Given the description of an element on the screen output the (x, y) to click on. 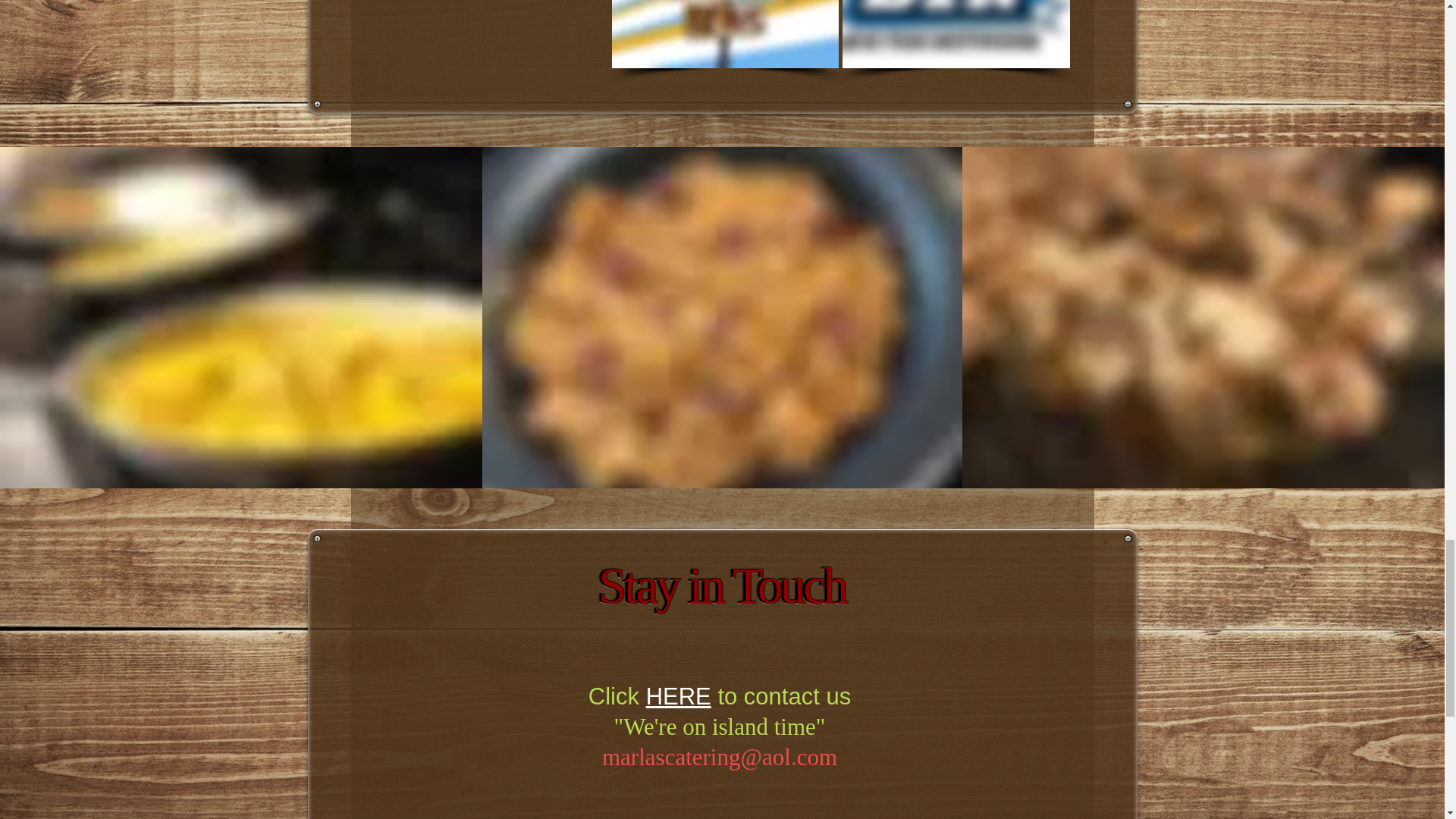
HERE (678, 696)
